Given the description of an element on the screen output the (x, y) to click on. 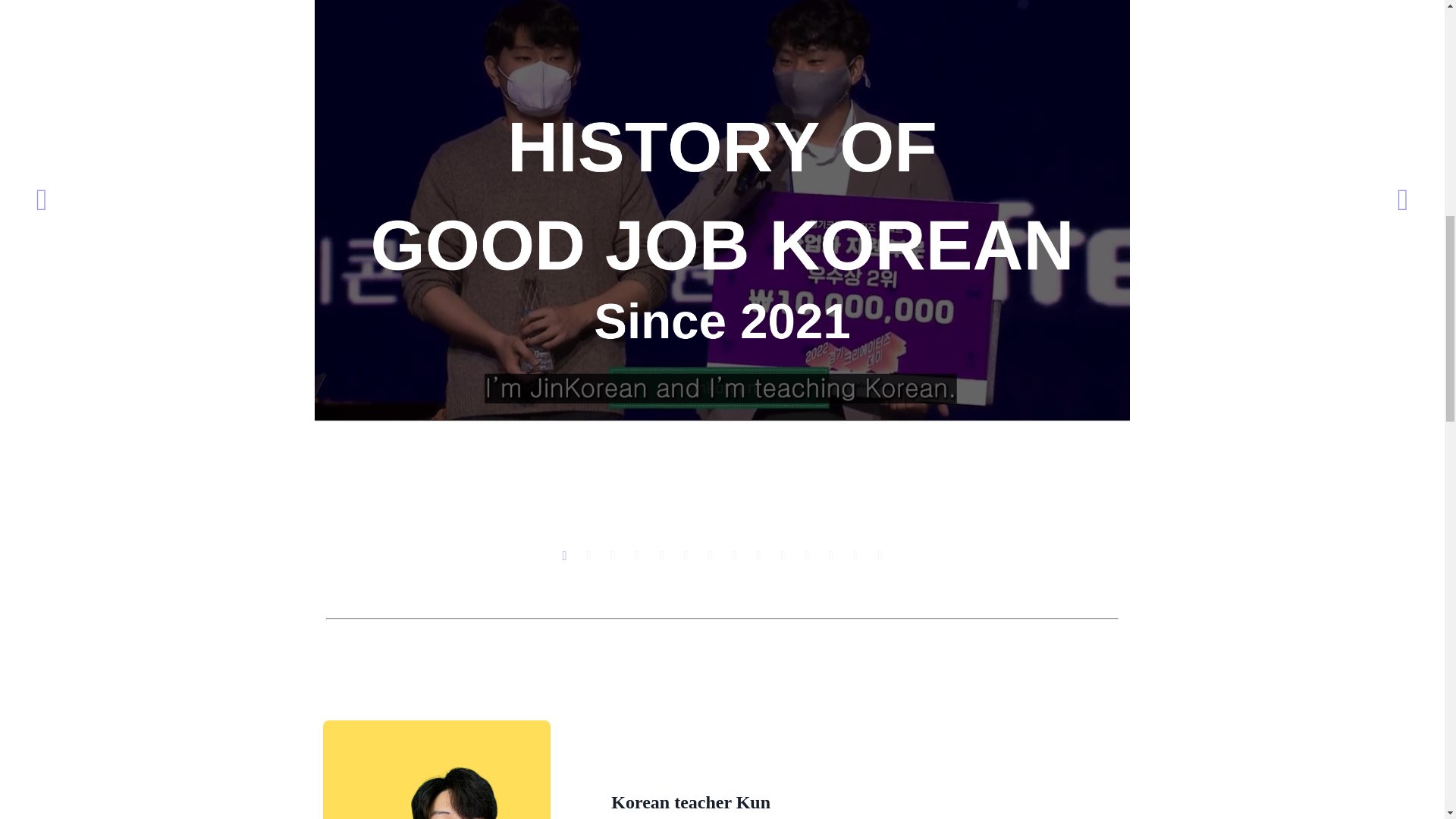
4 (636, 555)
2 (587, 555)
10 (782, 555)
9 (758, 555)
13 (855, 555)
3 (612, 555)
14 (879, 555)
8 (733, 555)
5 (660, 555)
11 (806, 555)
